Given the description of an element on the screen output the (x, y) to click on. 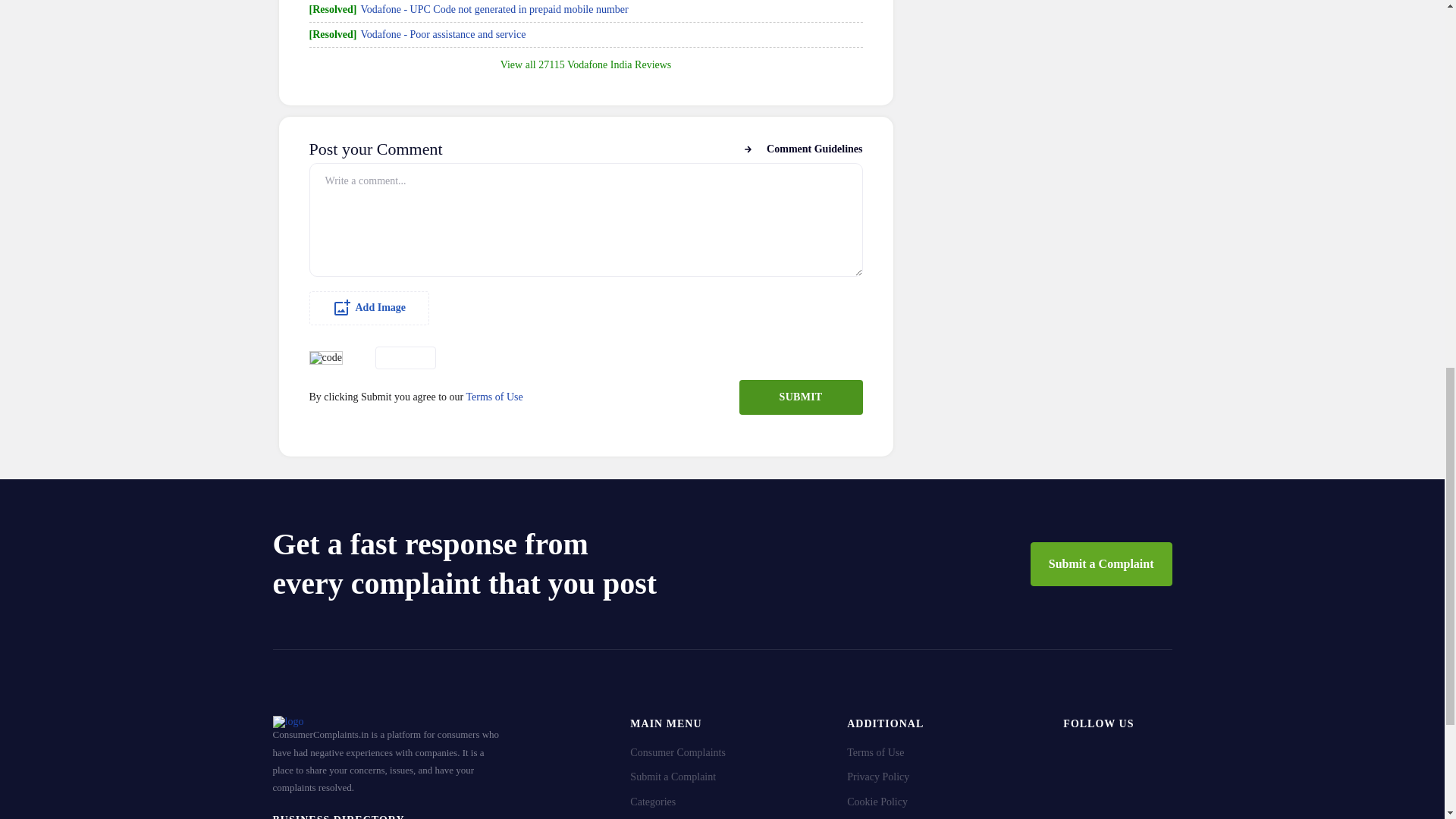
Submit a Complaint (1101, 564)
Terms of Use (493, 396)
Comment Guidelines (802, 148)
27115 Vodafone India Reviews (604, 64)
